Given the description of an element on the screen output the (x, y) to click on. 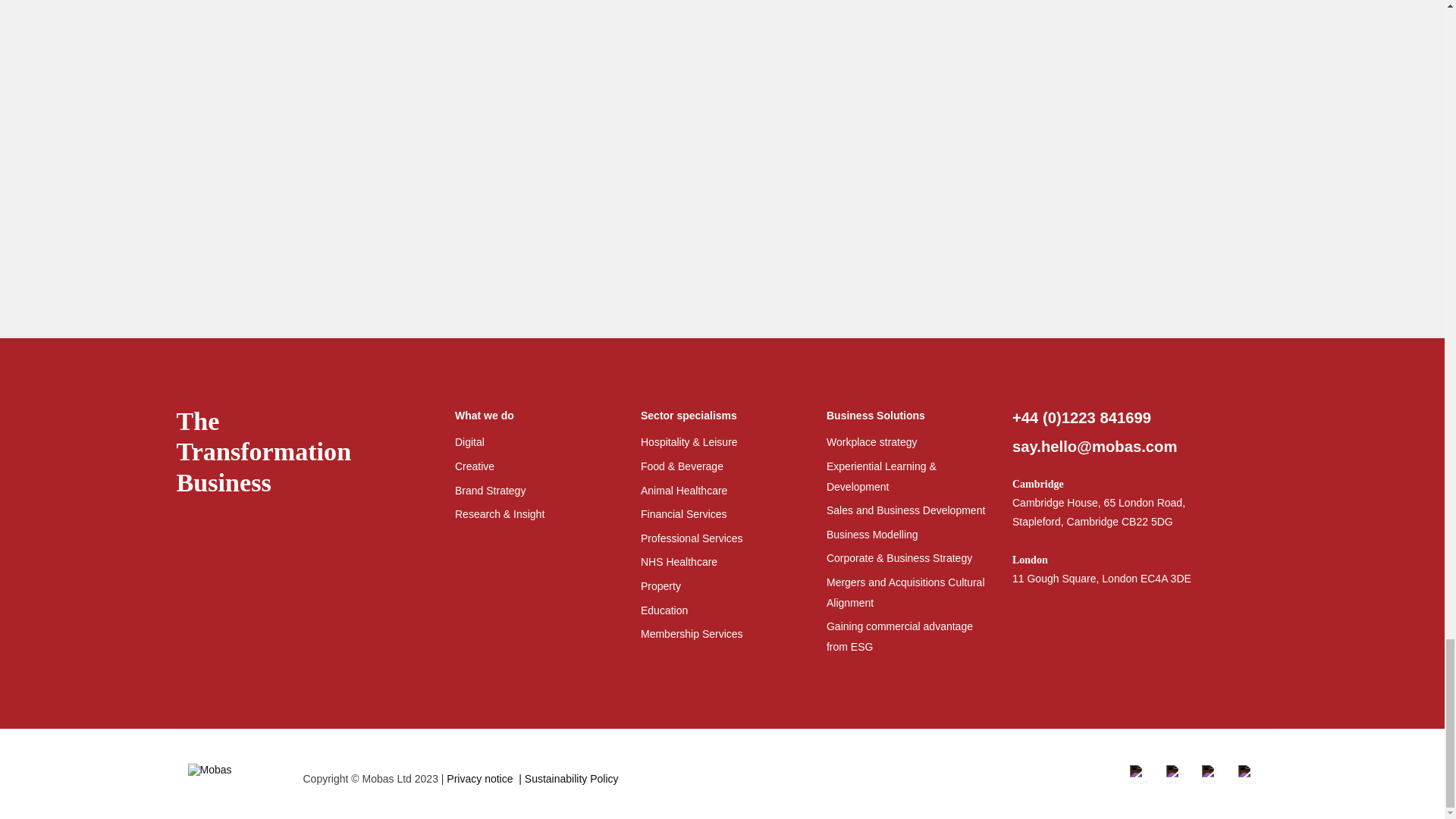
What we do (535, 415)
Creative (474, 466)
Mobas (228, 773)
Digital (469, 441)
Brand Strategy (489, 490)
